Given the description of an element on the screen output the (x, y) to click on. 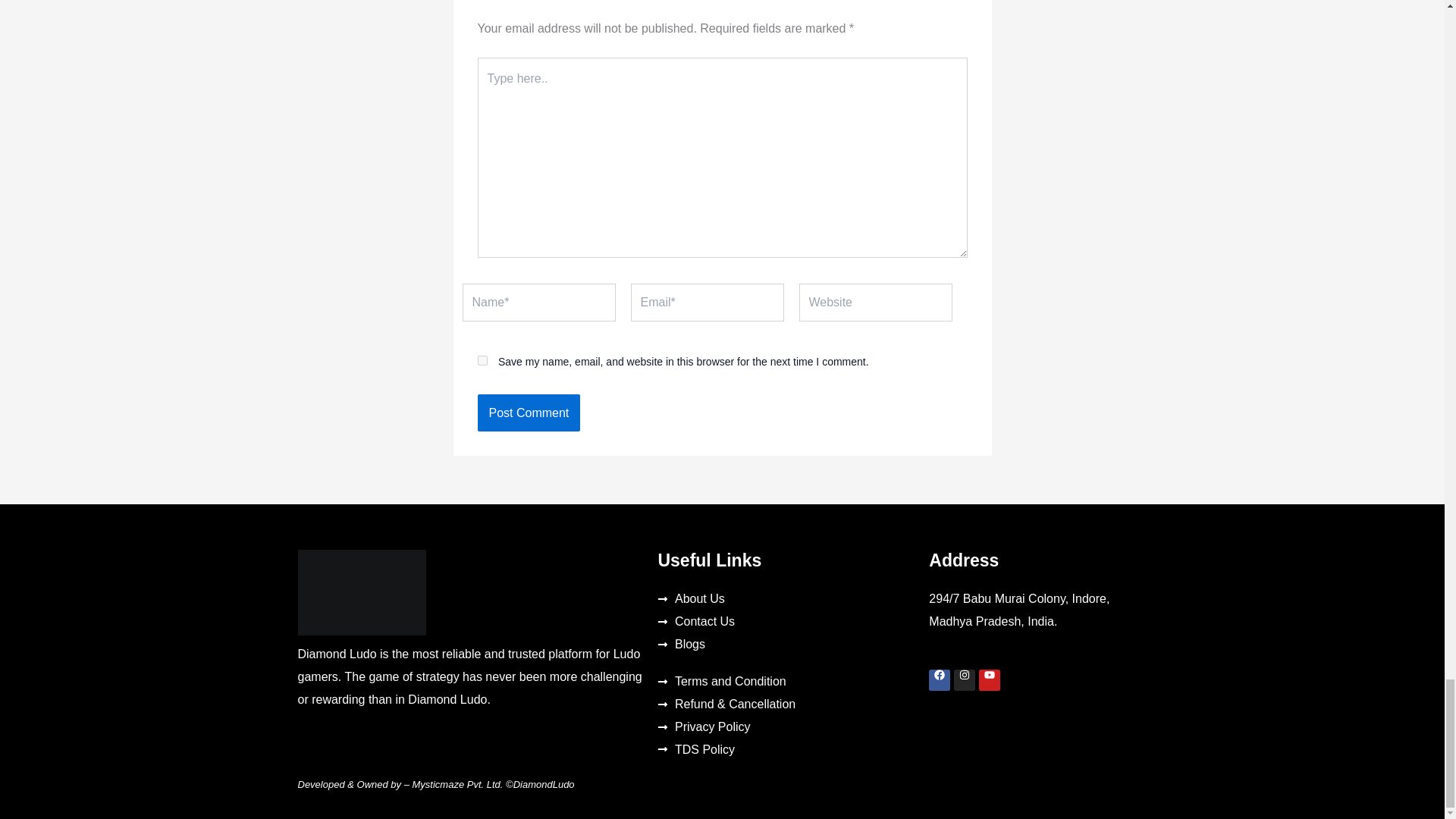
yes (482, 360)
Contact Us (786, 621)
Post Comment (528, 412)
Terms and Condition (786, 681)
About Us (786, 599)
Blogs (786, 644)
Post Comment (528, 412)
